Given the description of an element on the screen output the (x, y) to click on. 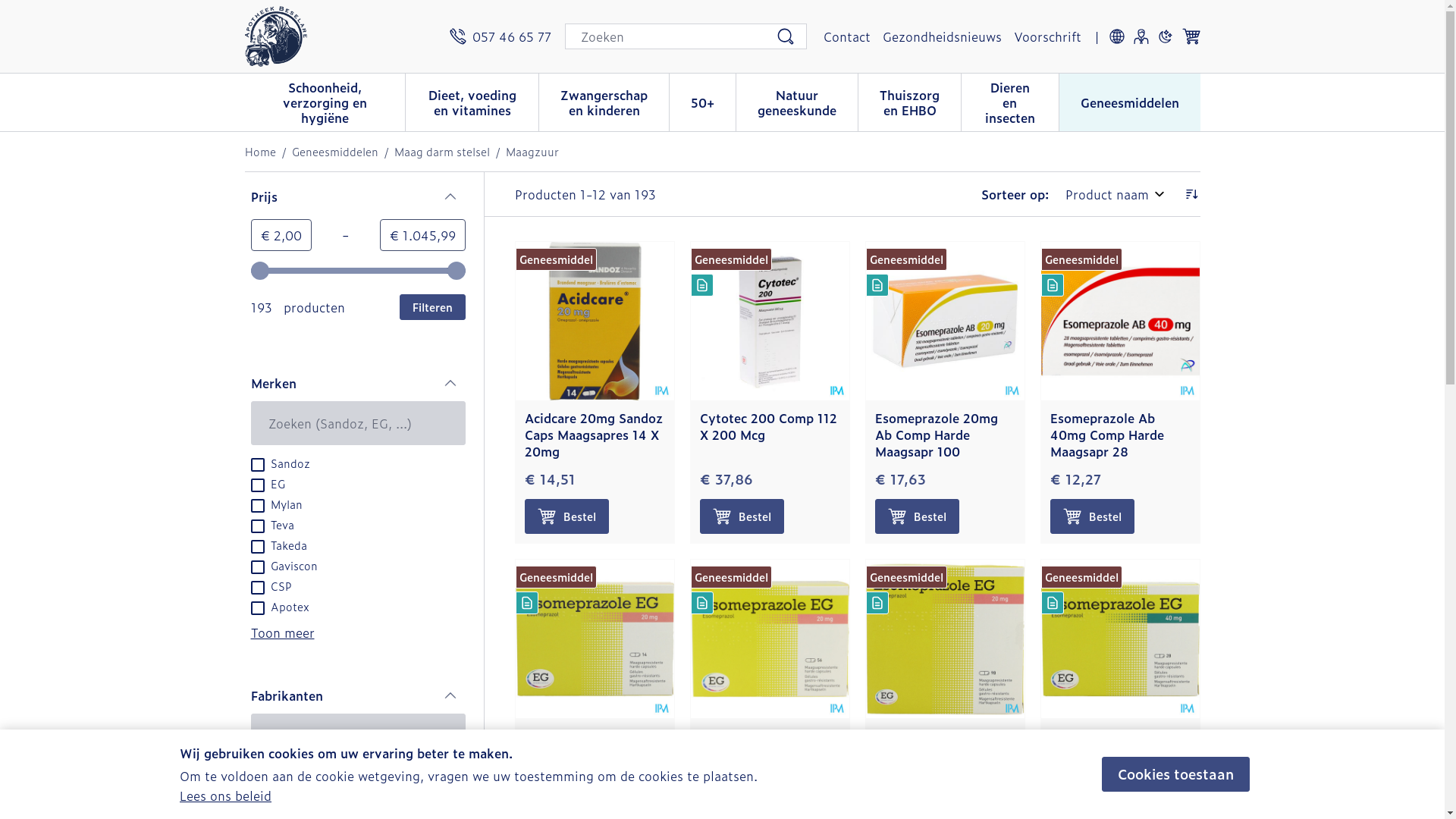
Zoeken Element type: text (785, 36)
Klant menu Element type: text (1140, 35)
Thuiszorg en EHBO Element type: text (909, 100)
EG Generics & Consumer Element type: text (325, 774)
Toon meer Element type: text (281, 632)
Gezondheidsnieuws Element type: text (941, 36)
Maag darm stelsel Element type: text (441, 151)
on Element type: text (256, 464)
Bestel Element type: text (566, 515)
Esomeprazole EG 20Mg Harde Caps Maagsapres 98X20Mg Element type: text (942, 752)
on Element type: text (256, 567)
Esomeprazole EG 40Mg Harde Caps Maagsapres 28X40Mg Element type: text (1116, 752)
Donkere modus Element type: text (1164, 35)
Geneesmiddelen Element type: text (334, 151)
Filteren Element type: text (431, 307)
on Element type: text (256, 797)
Cookies toestaan Element type: text (1175, 773)
Apotheek Beselare Element type: hover (340, 36)
Esomeprazole Ab 40mg Comp Harde Maagsapr 28 Element type: hover (1119, 320)
Apotex Element type: text (279, 605)
Lees ons beleid Element type: text (225, 795)
Apotheek Beselare Element type: hover (275, 36)
Bestel Element type: text (917, 515)
Aflopende richting instellen Element type: hover (1190, 193)
on Element type: text (256, 526)
Contact Element type: text (846, 36)
Talen Element type: text (1115, 35)
Cytotec 200 Comp 112 X 200 Mcg Element type: text (767, 425)
Acidcare 20mg Sandoz Caps Maagsapres 14 X 20mg Element type: text (593, 434)
Home Element type: text (259, 151)
Cytotec 200 Comp 112 X 200 Mcg Element type: hover (769, 320)
Winkelwagen Element type: text (1190, 36)
Gaviscon Element type: text (283, 564)
Zwangerschap en kinderen Element type: text (603, 100)
Natuur geneeskunde Element type: text (796, 100)
Sandoz Element type: text (279, 795)
Geneesmiddelen Element type: text (1128, 100)
Bestel Element type: text (1091, 515)
Dieren en insecten Element type: text (1009, 100)
on Element type: text (256, 505)
057 46 65 77 Element type: text (499, 36)
Esomeprazole EG 40Mg Harde Caps Maagsapres 28X40Mg Element type: hover (1119, 638)
50+ Element type: text (702, 100)
on Element type: text (256, 608)
Esomeprazole 20mg Ab Comp Harde Maagsapr 100 Element type: text (936, 434)
Esomeprazole EG 20Mg Harde Caps Maagsapres 98X20Mg Element type: hover (945, 638)
on Element type: text (256, 777)
on Element type: text (256, 485)
Bestel Element type: text (741, 515)
Esomeprazole EG 20Mg Harde Caps Maagsapres 14X20Mg Element type: hover (594, 638)
Acidcare 20mg Sandoz Caps Maagsapres 14 X 20mg Element type: hover (594, 320)
on Element type: text (256, 546)
Dieet, voeding en vitamines Element type: text (471, 100)
Esomeprazole 20mg Ab Comp Harde Maagsapr 100 Element type: hover (945, 320)
on Element type: text (256, 587)
Takeda Element type: text (278, 544)
Mylan Element type: text (275, 503)
Voorschrift Element type: text (1046, 36)
Sandoz Element type: text (279, 462)
Esomeprazole EG 20Mg Harde Caps Maagsapres 56X20Mg Element type: text (765, 752)
CSP Element type: text (270, 585)
Esomeprazole EG 20Mg Harde Caps Maagsapres 56X20Mg Element type: hover (769, 638)
Esomeprazole Ab 40mg Comp Harde Maagsapr 28 Element type: text (1106, 434)
Teva Element type: text (271, 523)
Esomeprazole EG 20Mg Harde Caps Maagsapres 14X20Mg Element type: text (590, 752)
EG Element type: text (267, 482)
